Given the description of an element on the screen output the (x, y) to click on. 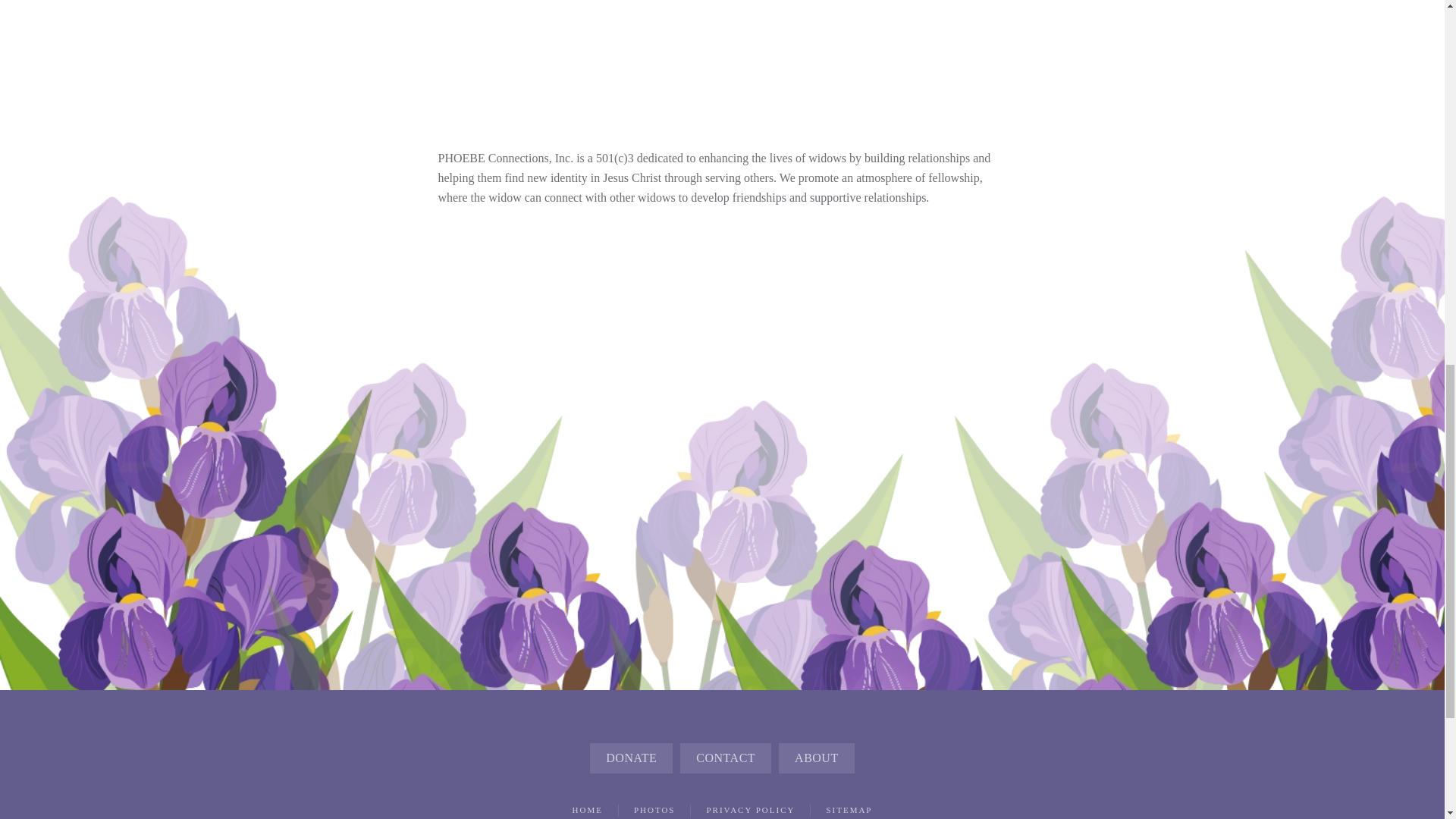
ABOUT (816, 757)
DONATE (630, 757)
CONTACT (725, 757)
HOME (587, 810)
